Given the description of an element on the screen output the (x, y) to click on. 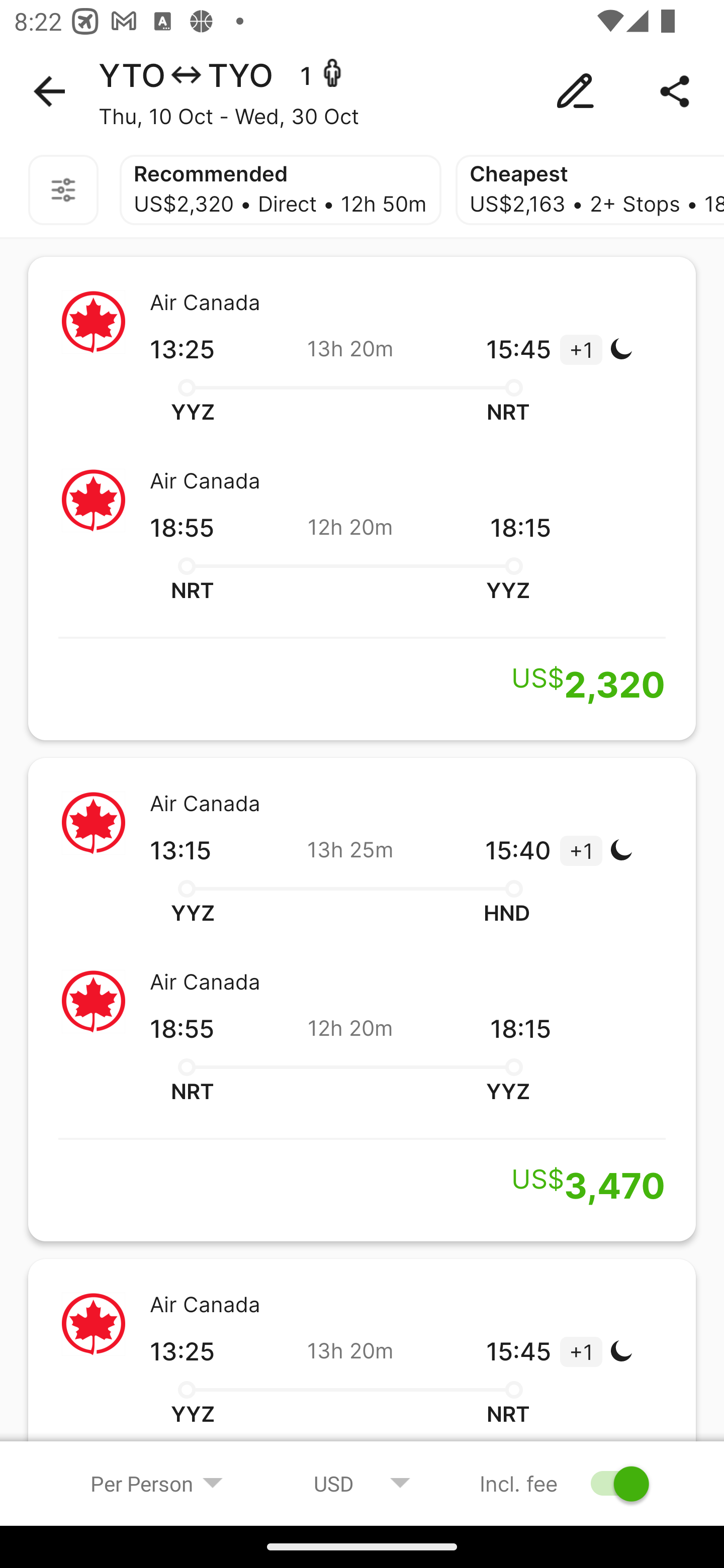
YTO TYO   1 - Thu, 10 Oct - Wed, 30 Oct (361, 91)
Recommended  US$2,320 • Direct • 12h 50m (280, 190)
Cheapest US$2,163 • 2+ Stops • 18h 12m (589, 190)
Per Person (156, 1482)
USD (361, 1482)
